Given the description of an element on the screen output the (x, y) to click on. 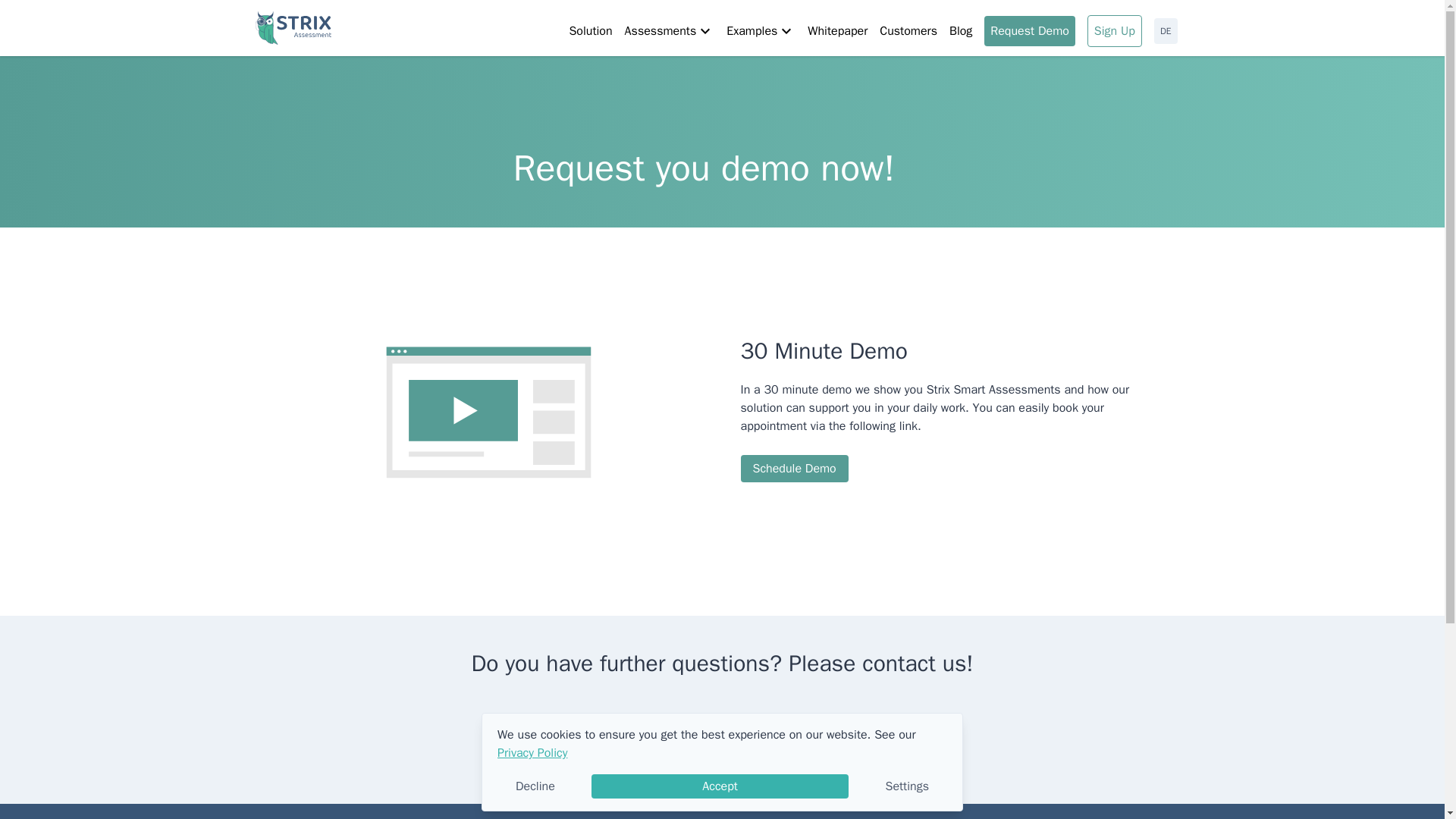
Assessments (669, 31)
Privacy Policy (532, 752)
Solution (590, 31)
Accept (719, 785)
Examples (760, 31)
Schedule Demo (793, 468)
Request Demo (1029, 30)
Whitepaper (837, 31)
Blog (960, 31)
Contact us (722, 731)
Customers (908, 31)
Sign Up (1114, 30)
DE (1165, 31)
Decline (534, 785)
